Given the description of an element on the screen output the (x, y) to click on. 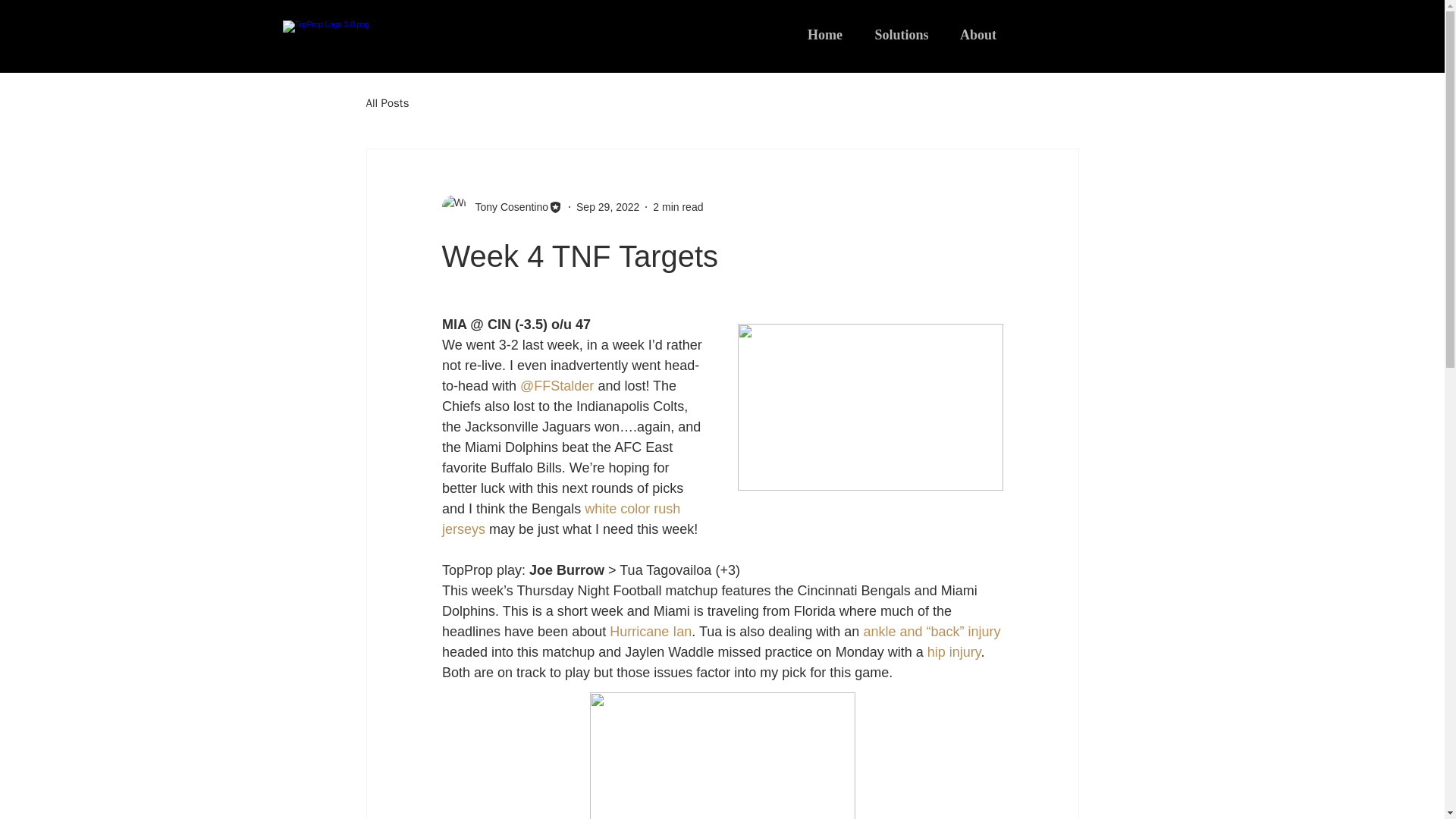
About (978, 34)
Tony Cosentino (501, 206)
hip injury (952, 652)
2 min read (677, 205)
Sep 29, 2022 (607, 205)
Tony Cosentino (506, 206)
white color rush jerseys (561, 519)
All Posts (387, 102)
Solutions (901, 34)
Home (825, 34)
Hurricane Ian (650, 631)
